Given the description of an element on the screen output the (x, y) to click on. 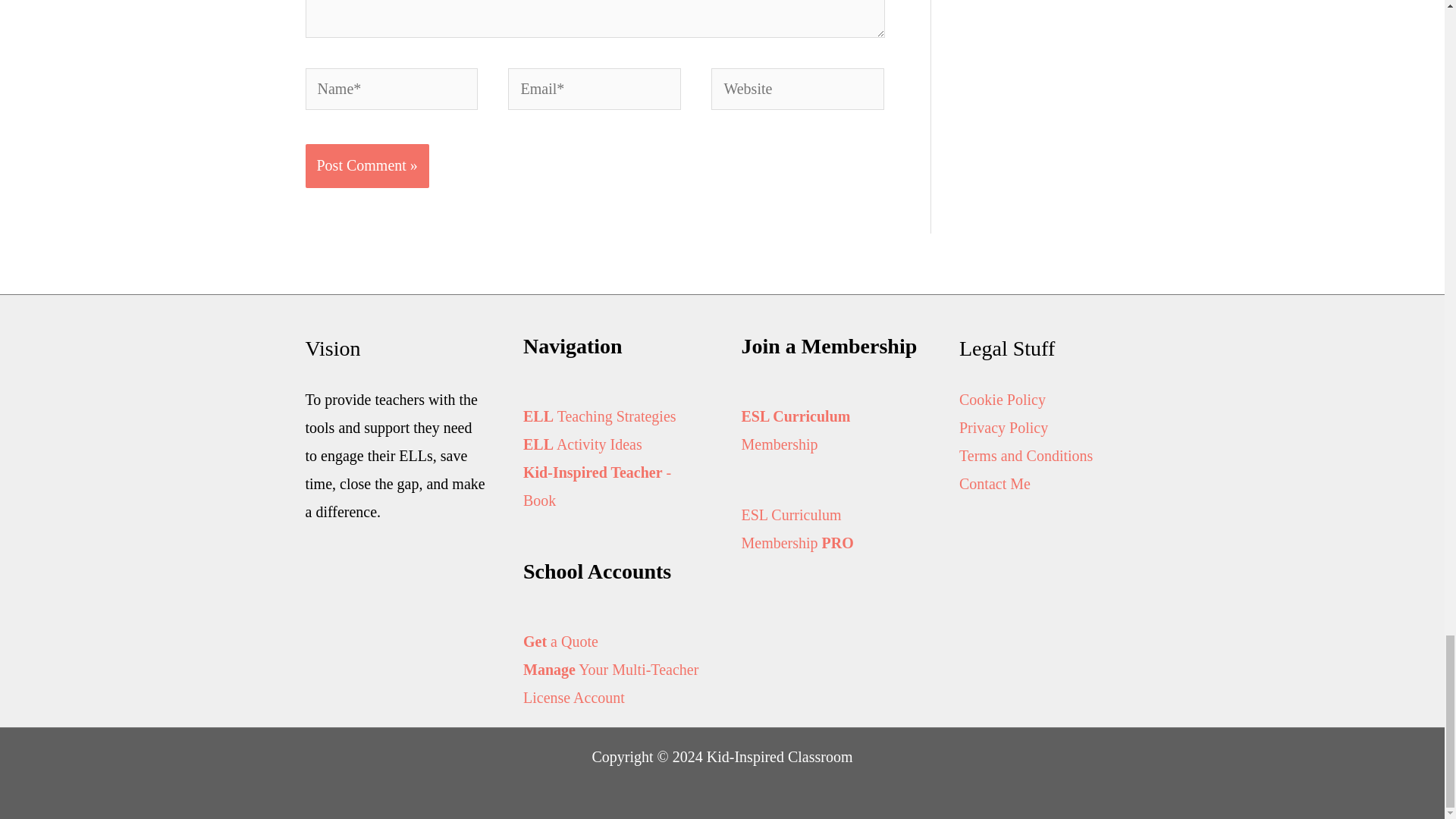
Cookie Policy  (1002, 399)
Privacy Policy  (1003, 427)
Terms and Conditions  (1026, 455)
